Given the description of an element on the screen output the (x, y) to click on. 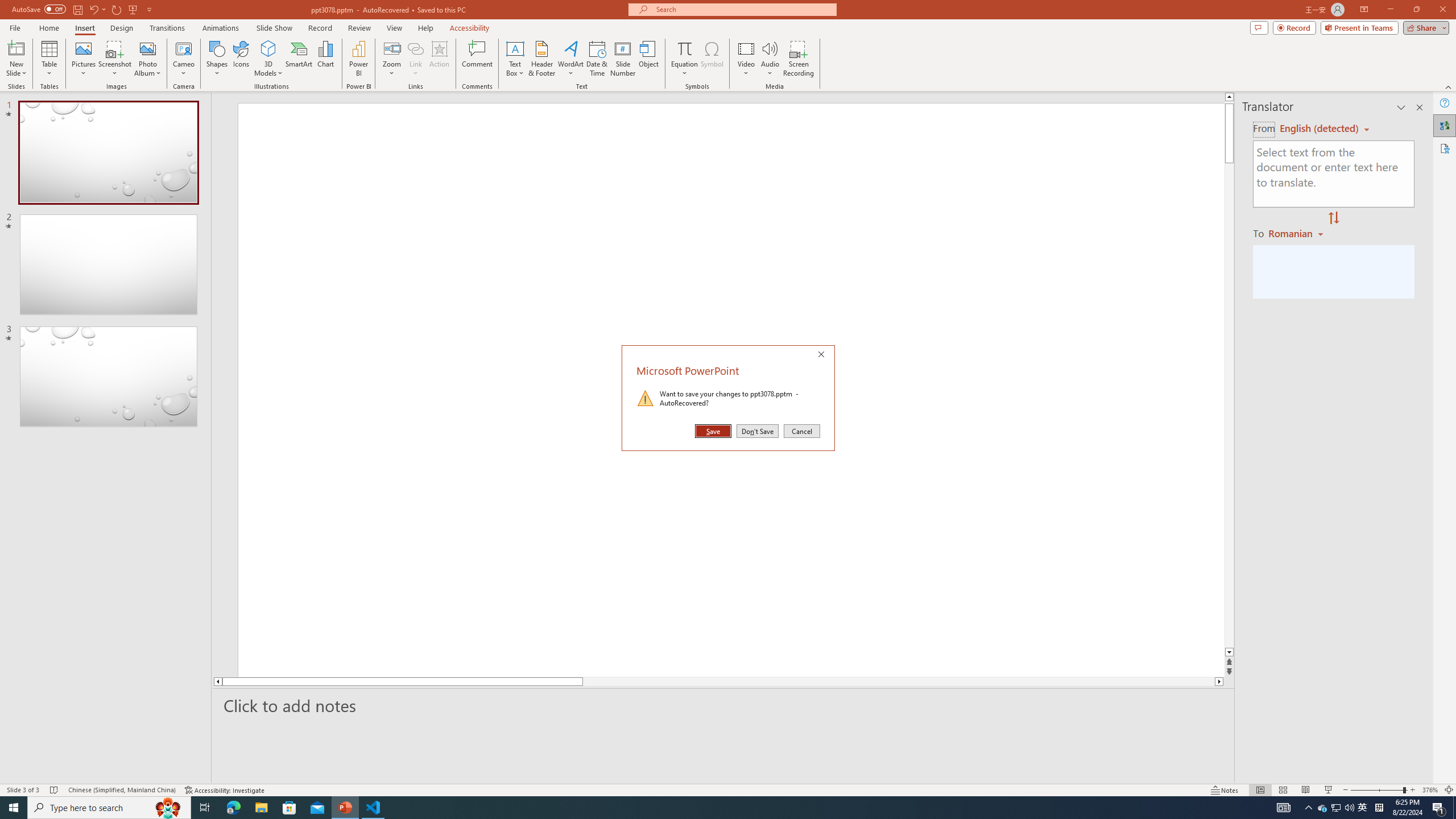
Header & Footer... (541, 58)
New Photo Album... (147, 48)
3D Models (268, 58)
Romanian (1296, 232)
Cancel (801, 431)
Chart... (325, 58)
